Given the description of an element on the screen output the (x, y) to click on. 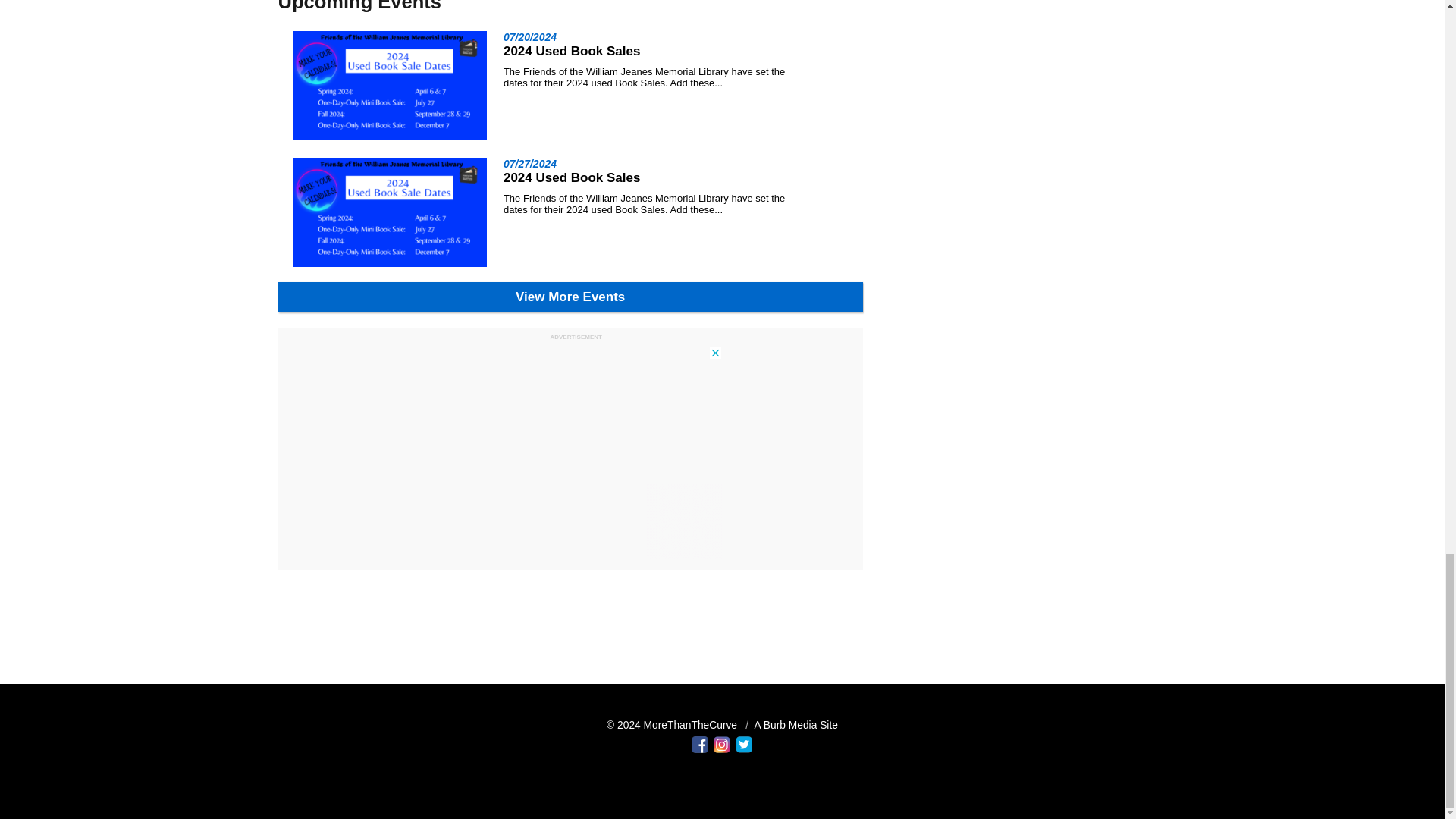
3rd party ad content (570, 454)
